Given the description of an element on the screen output the (x, y) to click on. 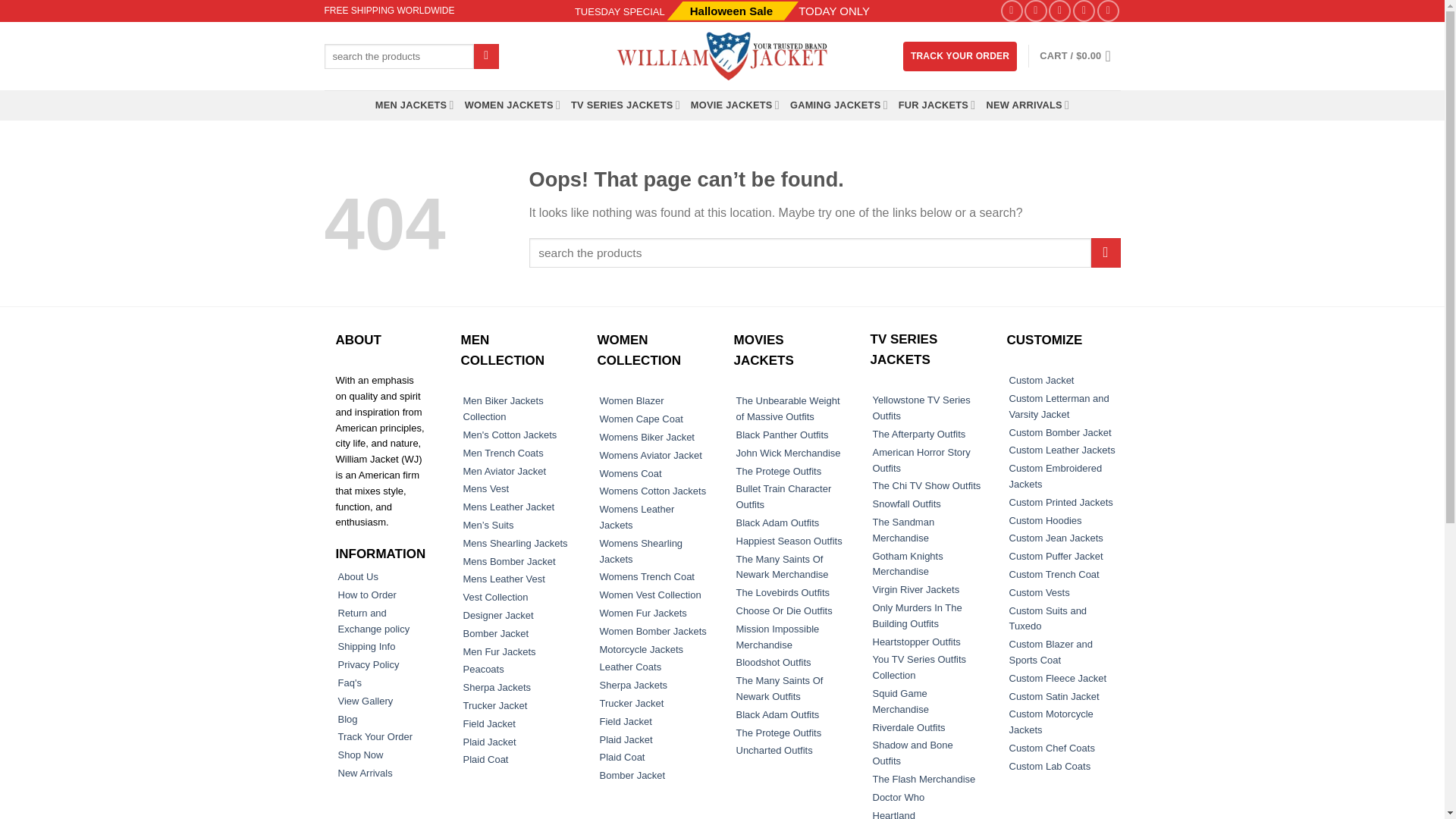
Search (486, 56)
Follow on YouTube (1108, 11)
Cart (1079, 55)
Follow on Twitter (1059, 11)
Follow on Facebook (1012, 11)
MEN JACKETS (414, 104)
William Jacket - William Jacket your trusted brand (721, 56)
Follow on Pinterest (1083, 11)
TRACK YOUR ORDER (959, 56)
Follow on Instagram (1035, 11)
